Given the description of an element on the screen output the (x, y) to click on. 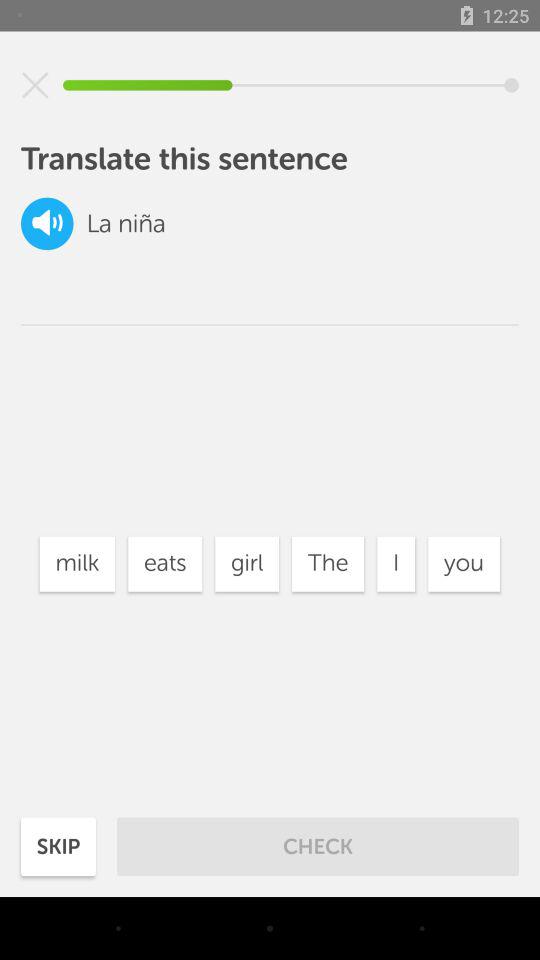
play translation (47, 223)
